Given the description of an element on the screen output the (x, y) to click on. 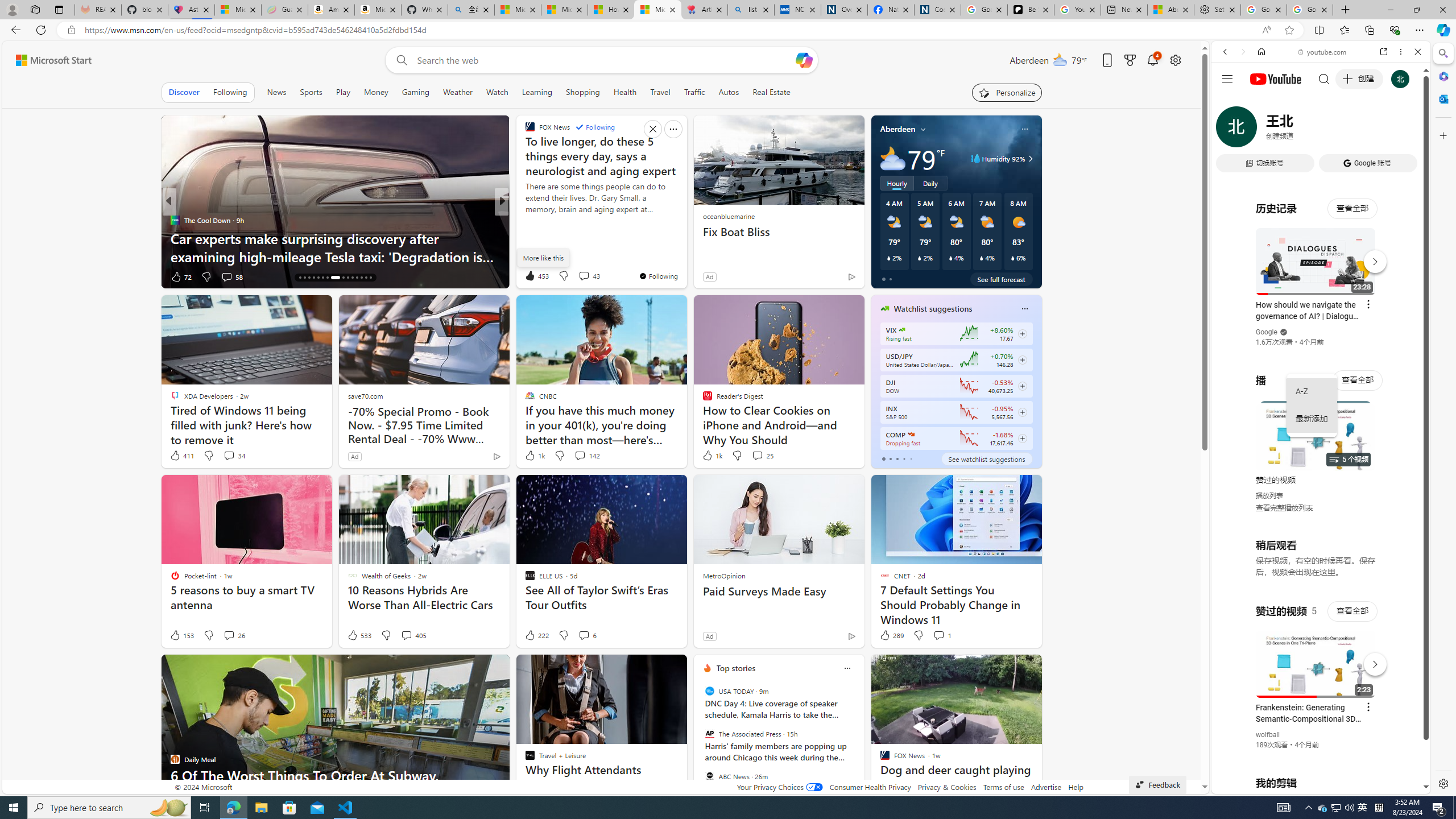
tab-3 (903, 458)
See full forecast (1000, 278)
View comments 34 Comment (228, 455)
View comments 142 Comment (586, 455)
View comments 142 Comment (579, 455)
153 Like (181, 634)
